Given the description of an element on the screen output the (x, y) to click on. 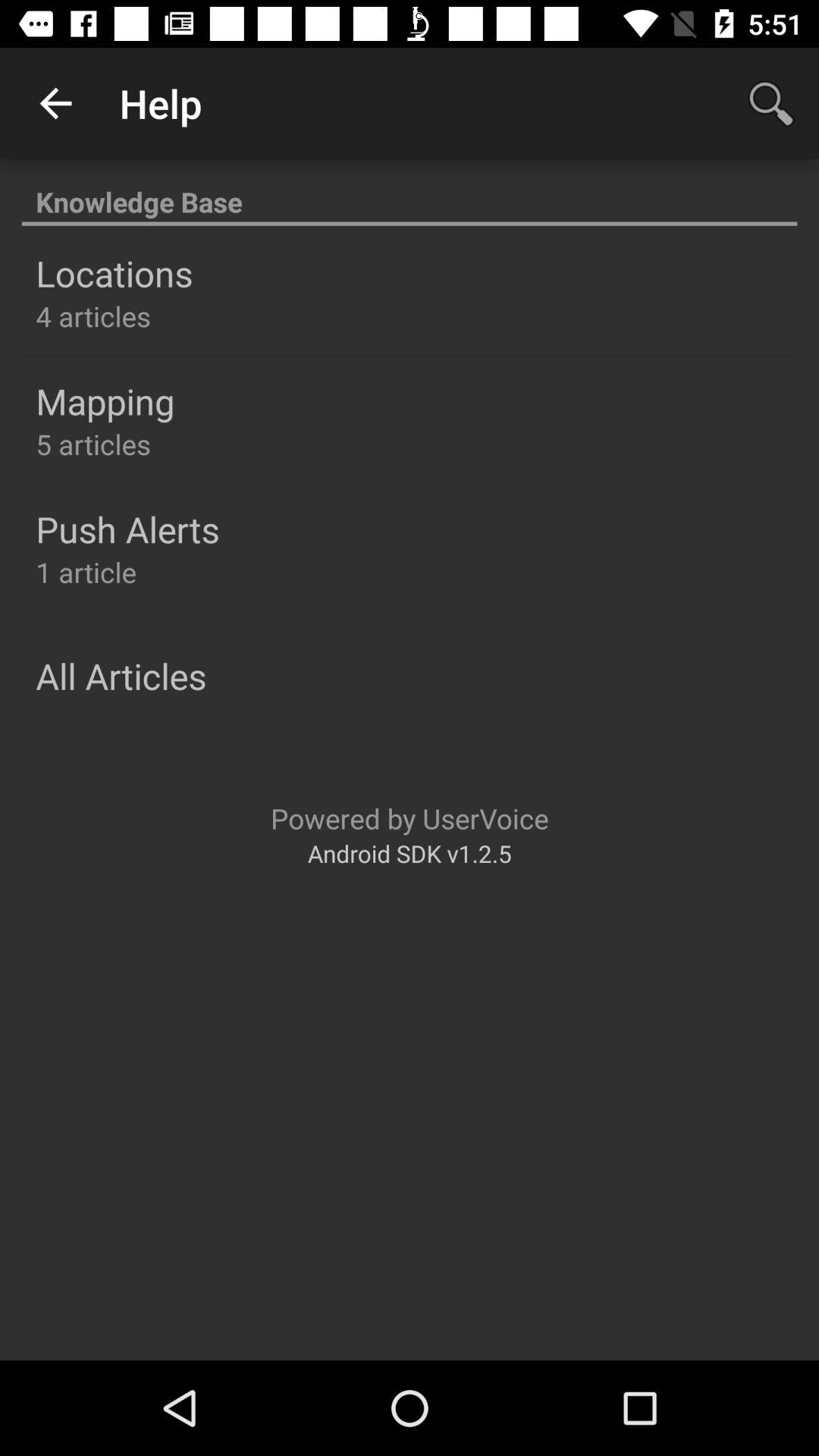
choose item below the push alerts (85, 571)
